Given the description of an element on the screen output the (x, y) to click on. 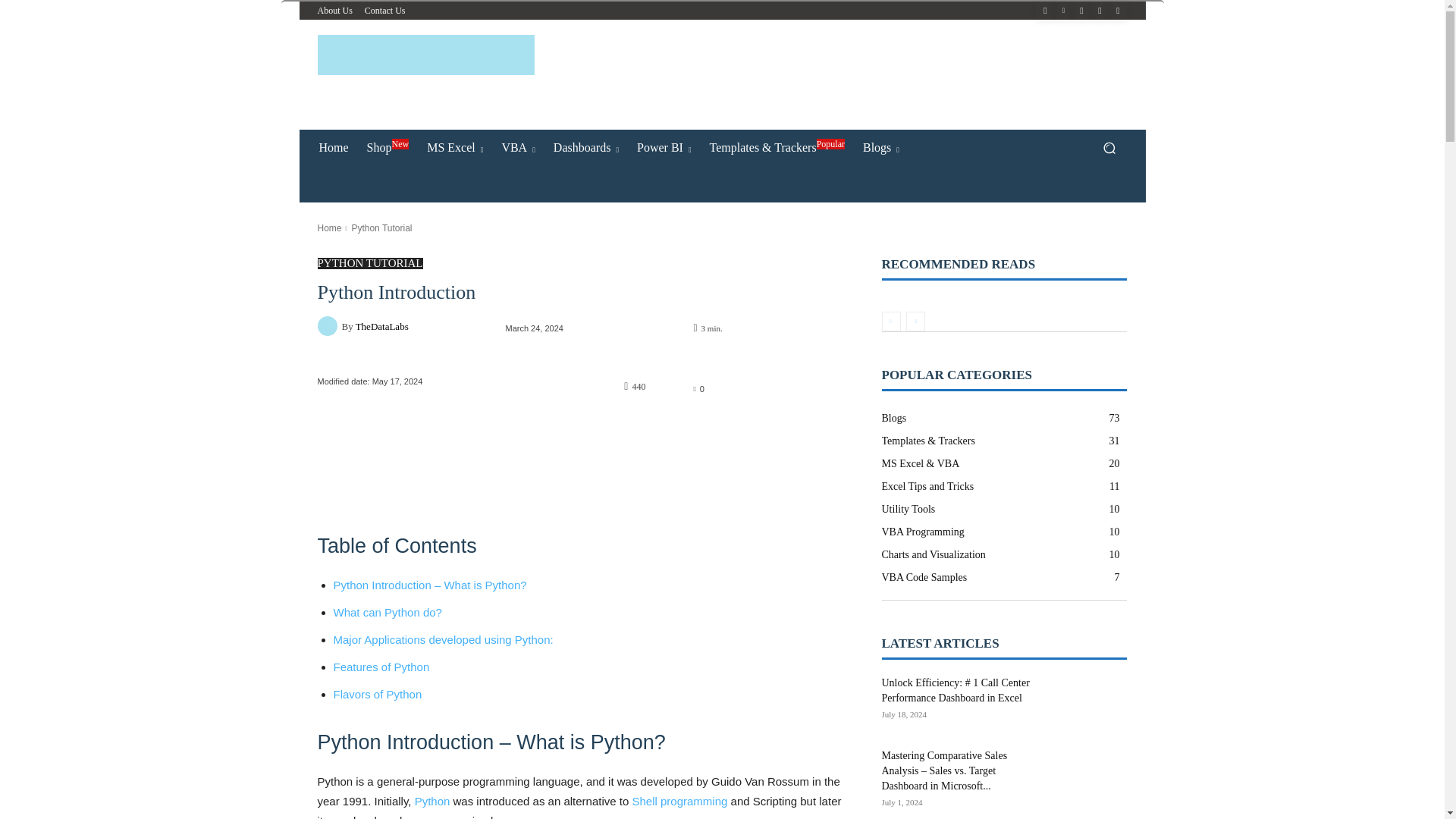
Pinterest (1062, 10)
Facebook (1044, 10)
Youtube (1117, 10)
Telegram (1080, 10)
Twitter (1099, 10)
